Given the description of an element on the screen output the (x, y) to click on. 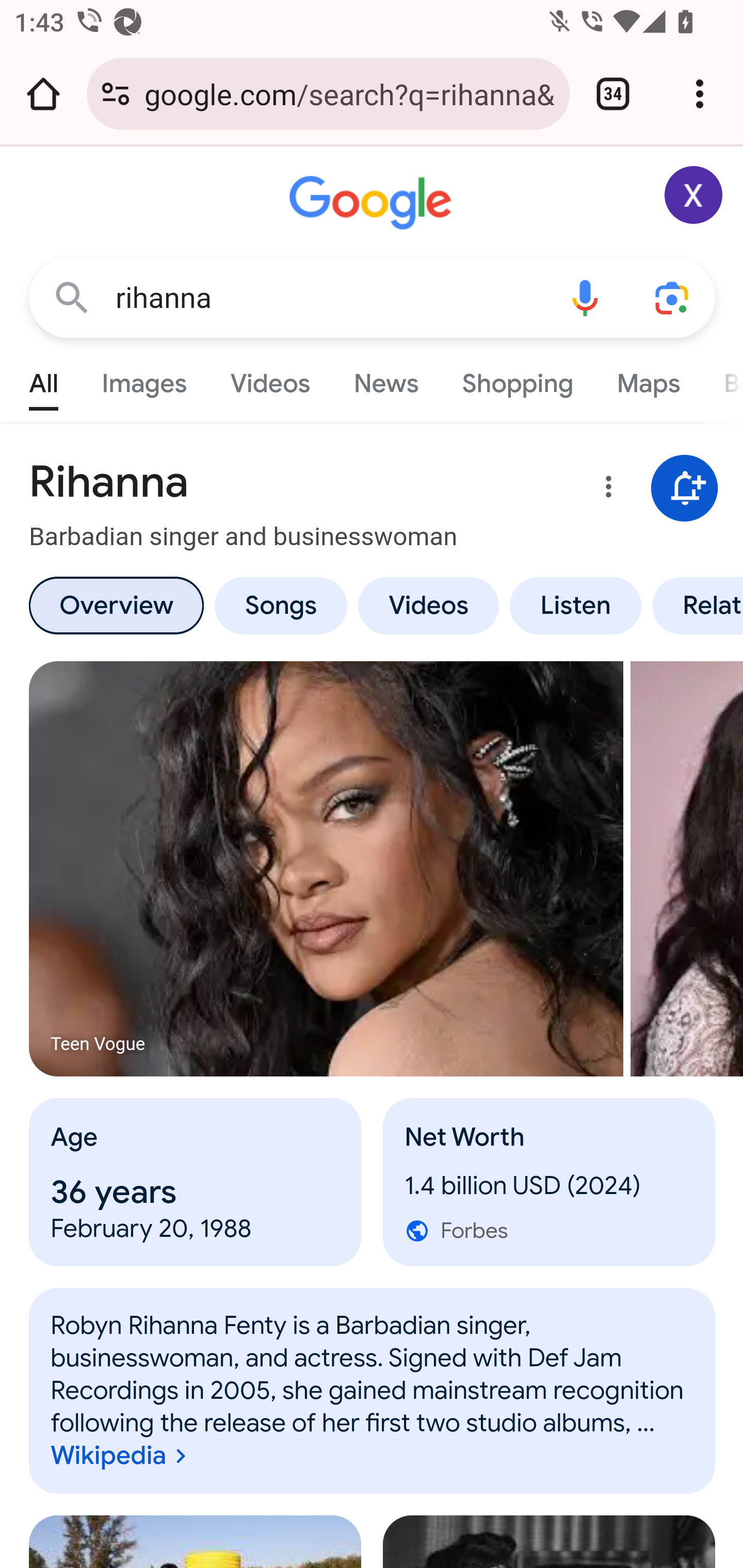
Open the home page (43, 93)
Connection is secure (115, 93)
Switch or close tabs (612, 93)
Customize and control Google Chrome (699, 93)
Google (372, 203)
Google Account: Xiaoran (zxrappiumtest@gmail.com) (694, 195)
Google Search (71, 296)
Search using your camera or photos (672, 296)
rihanna (328, 297)
Images (144, 378)
Videos (270, 378)
News (385, 378)
Shopping (516, 378)
Maps (647, 378)
Get notifications about Rihanna (684, 489)
More options (605, 489)
Overview (116, 605)
Songs (280, 605)
Videos (428, 605)
Listen (575, 605)
Relationships (694, 605)
Rihanna (372, 1390)
